Given the description of an element on the screen output the (x, y) to click on. 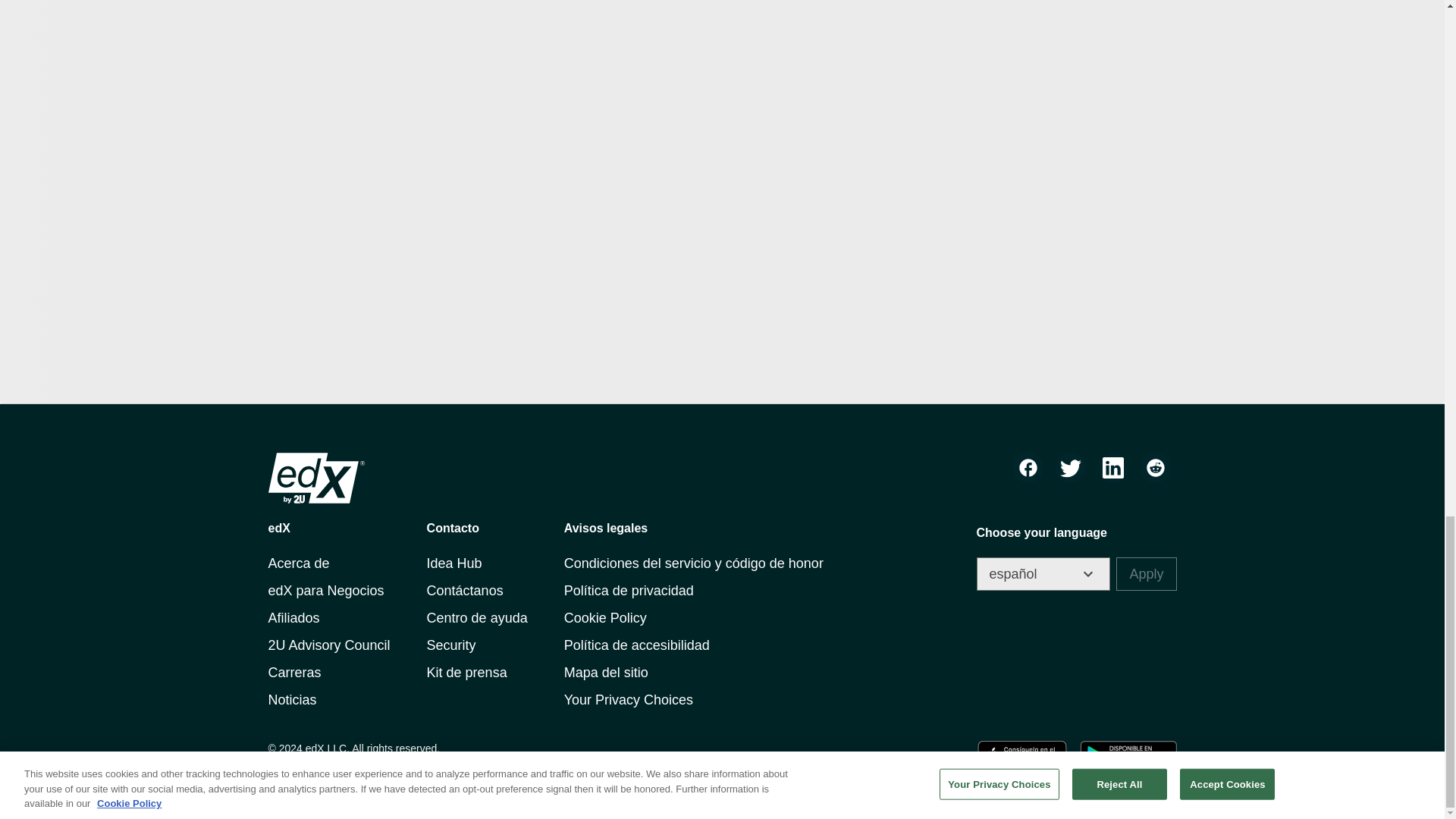
edX para Negocios (325, 590)
Carreras (294, 672)
Subscribe to the edX subreddit (1155, 467)
Centro de ayuda (476, 617)
2U Advisory Council (328, 645)
LinkedIn (1112, 467)
Facebook (1028, 467)
Reddit (1155, 467)
Kit de prensa (466, 672)
Cookie Policy (605, 617)
Security (451, 645)
Idea Hub (453, 563)
Afiliados (293, 617)
Twitter (1070, 467)
Noticias (292, 699)
